Given the description of an element on the screen output the (x, y) to click on. 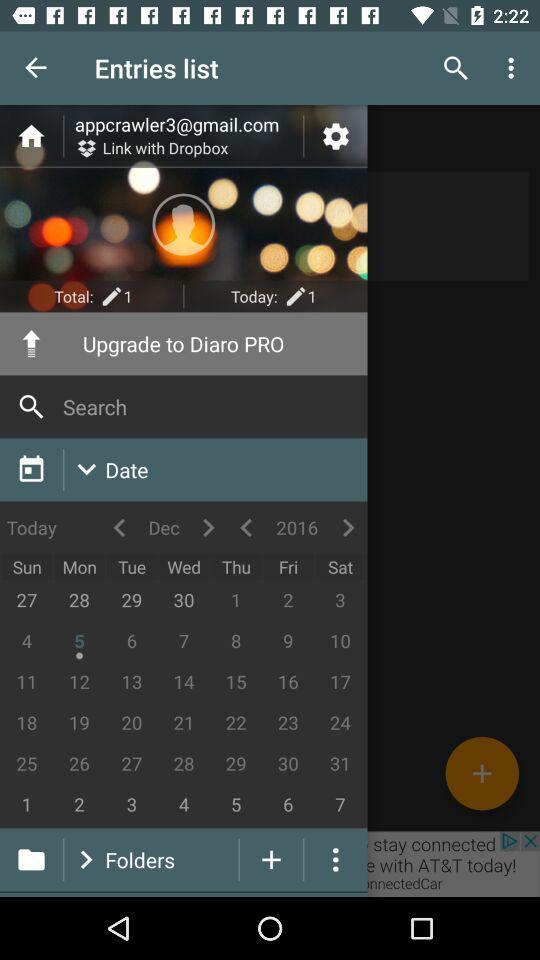
tap on number 28 positioned below 21 (184, 764)
click the number which is below 30 and after 5 (287, 805)
click on the icon that has the text link with dropbox right to it (86, 149)
click on 1 shown below 25 at the bottom left corner (27, 805)
the three vertical dot icon right to  symbol at the bottom of the page (336, 859)
click the number above 14 (184, 642)
select number 4 shown below 28 (184, 805)
tap on number 30 shown below wed (184, 601)
